Given the description of an element on the screen output the (x, y) to click on. 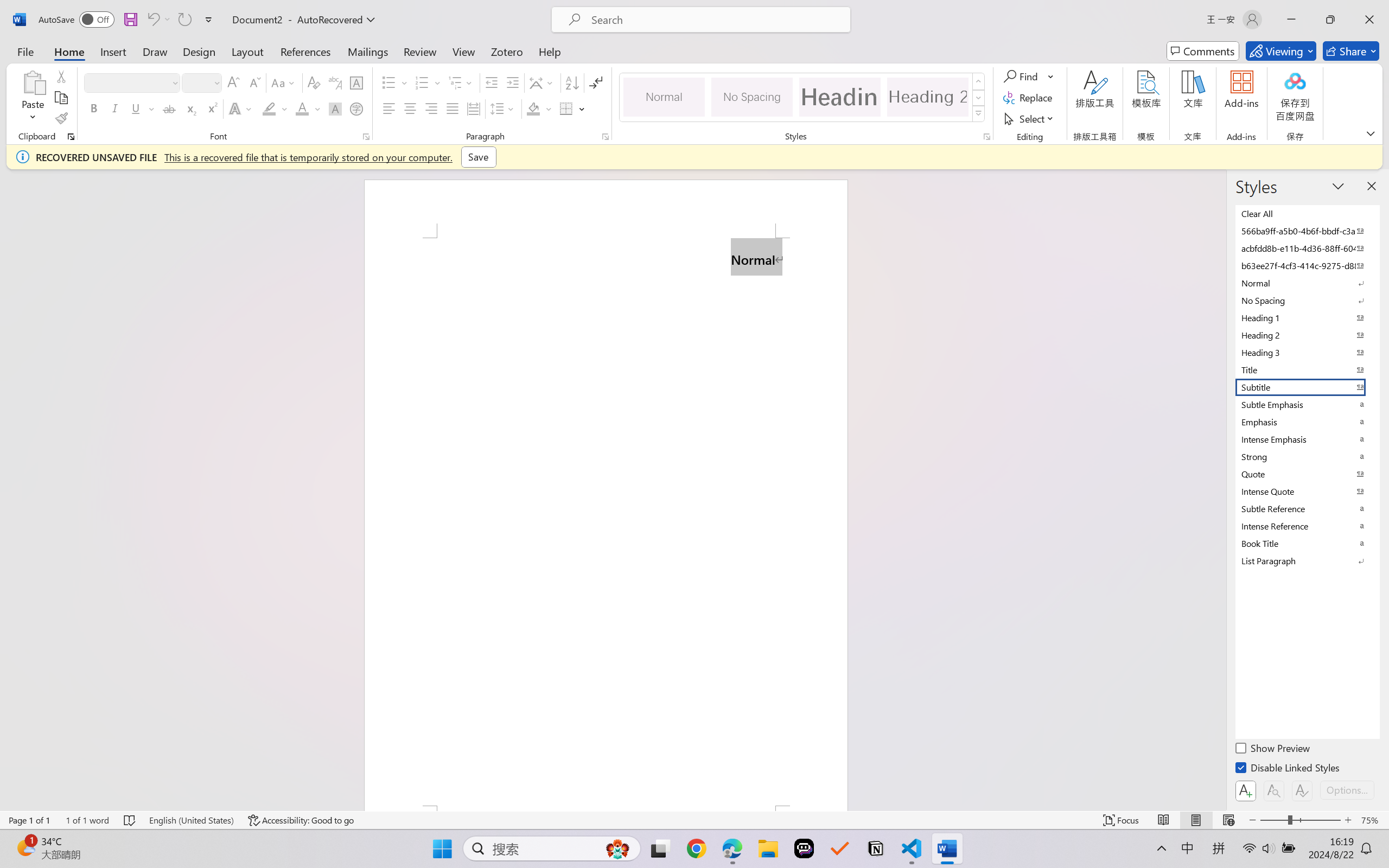
Heading 3 (1306, 352)
Phonetic Guide... (334, 82)
Task Pane Options (1338, 185)
Enclose Characters... (356, 108)
Subtitle (1306, 386)
Row up (978, 81)
Decrease Indent (491, 82)
